Given the description of an element on the screen output the (x, y) to click on. 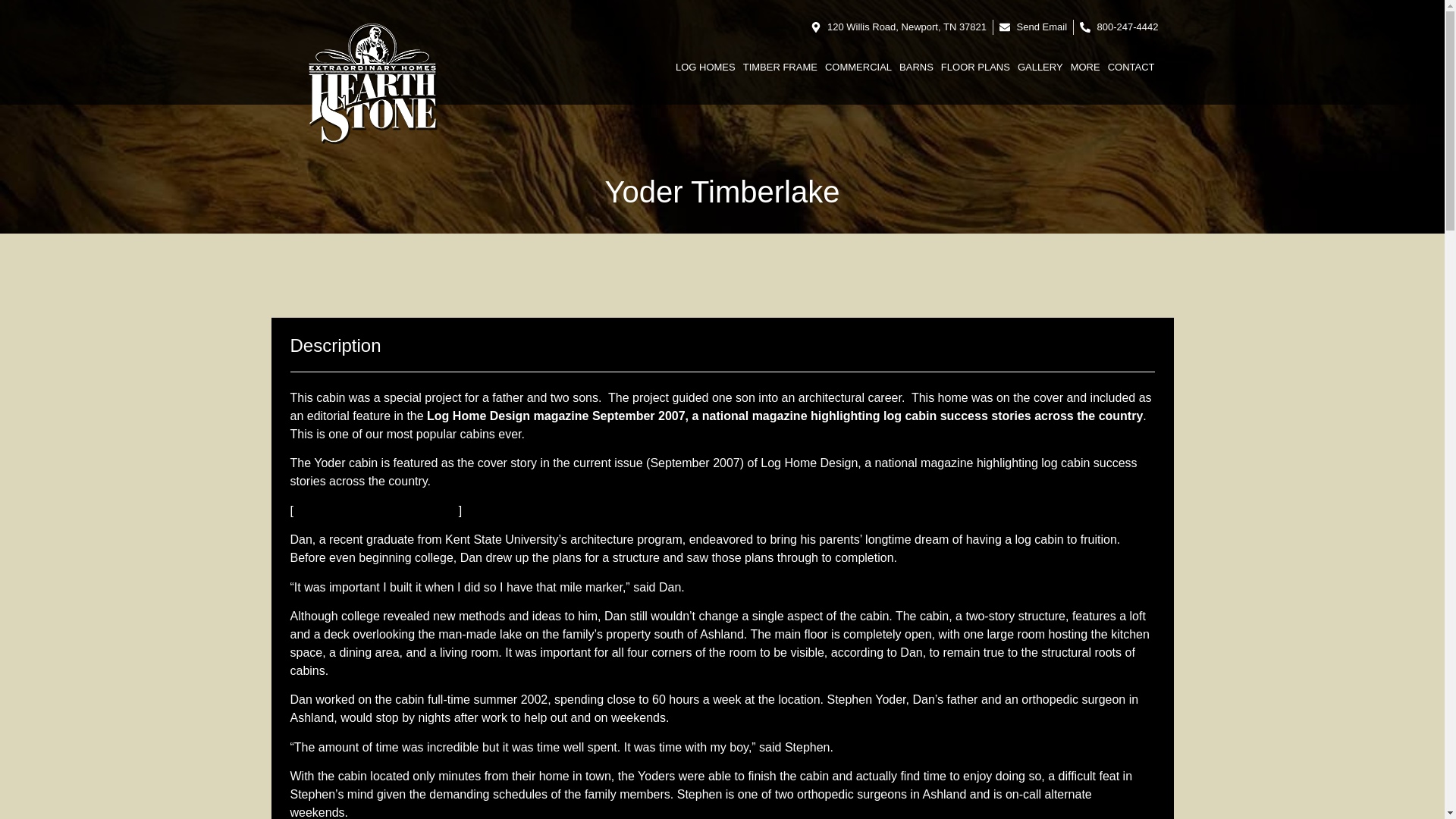
GALLERY (1040, 67)
BARNS (916, 67)
CONTACT (1130, 67)
LOG HOMES (705, 67)
MORE (1085, 67)
COMMERCIAL (858, 67)
FLOOR PLANS (975, 67)
TIMBER FRAME (780, 67)
